Given the description of an element on the screen output the (x, y) to click on. 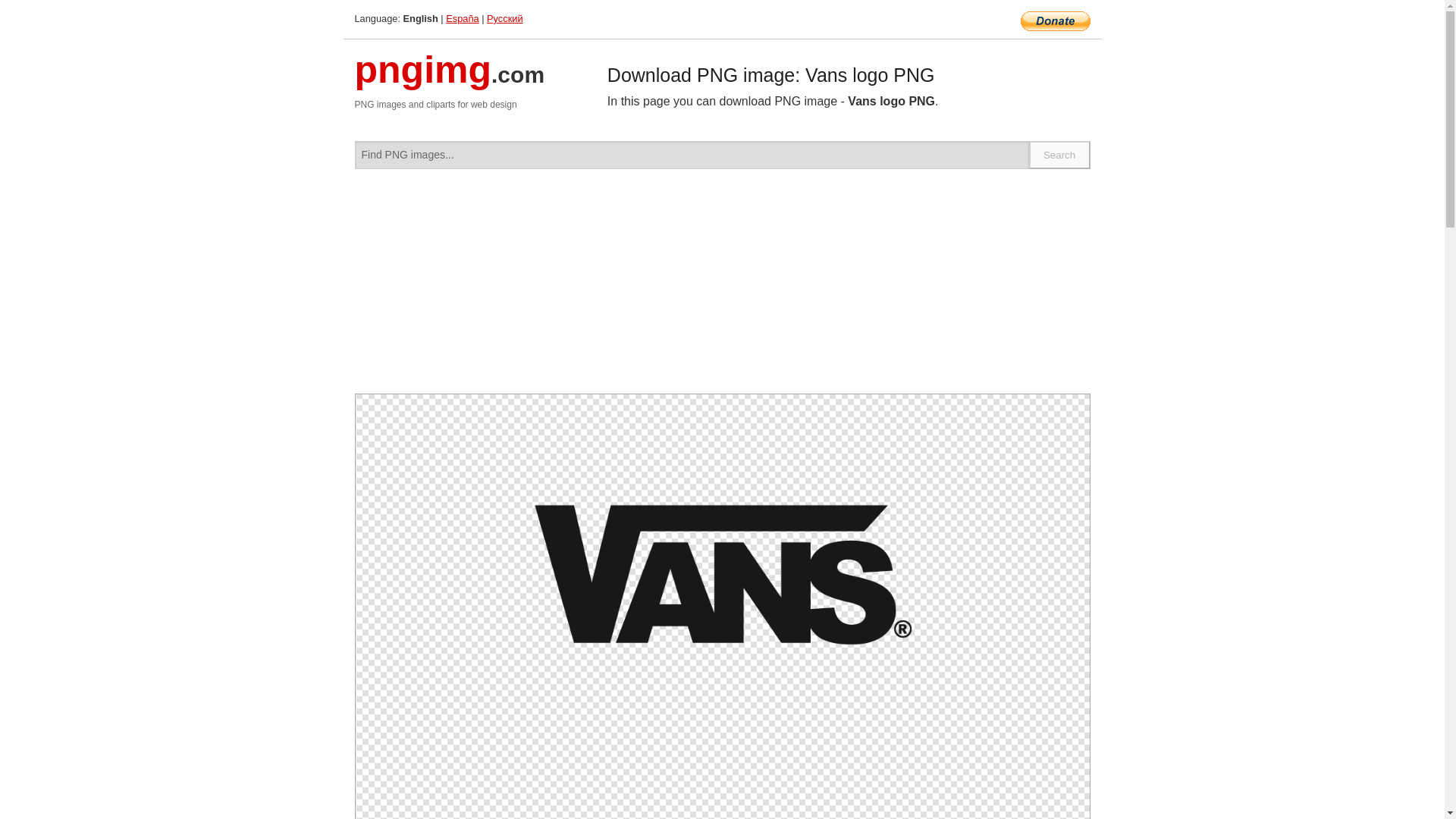
Search (1059, 154)
pngimg.com (449, 78)
Vans logo PNG (721, 567)
Search (1059, 154)
